Given the description of an element on the screen output the (x, y) to click on. 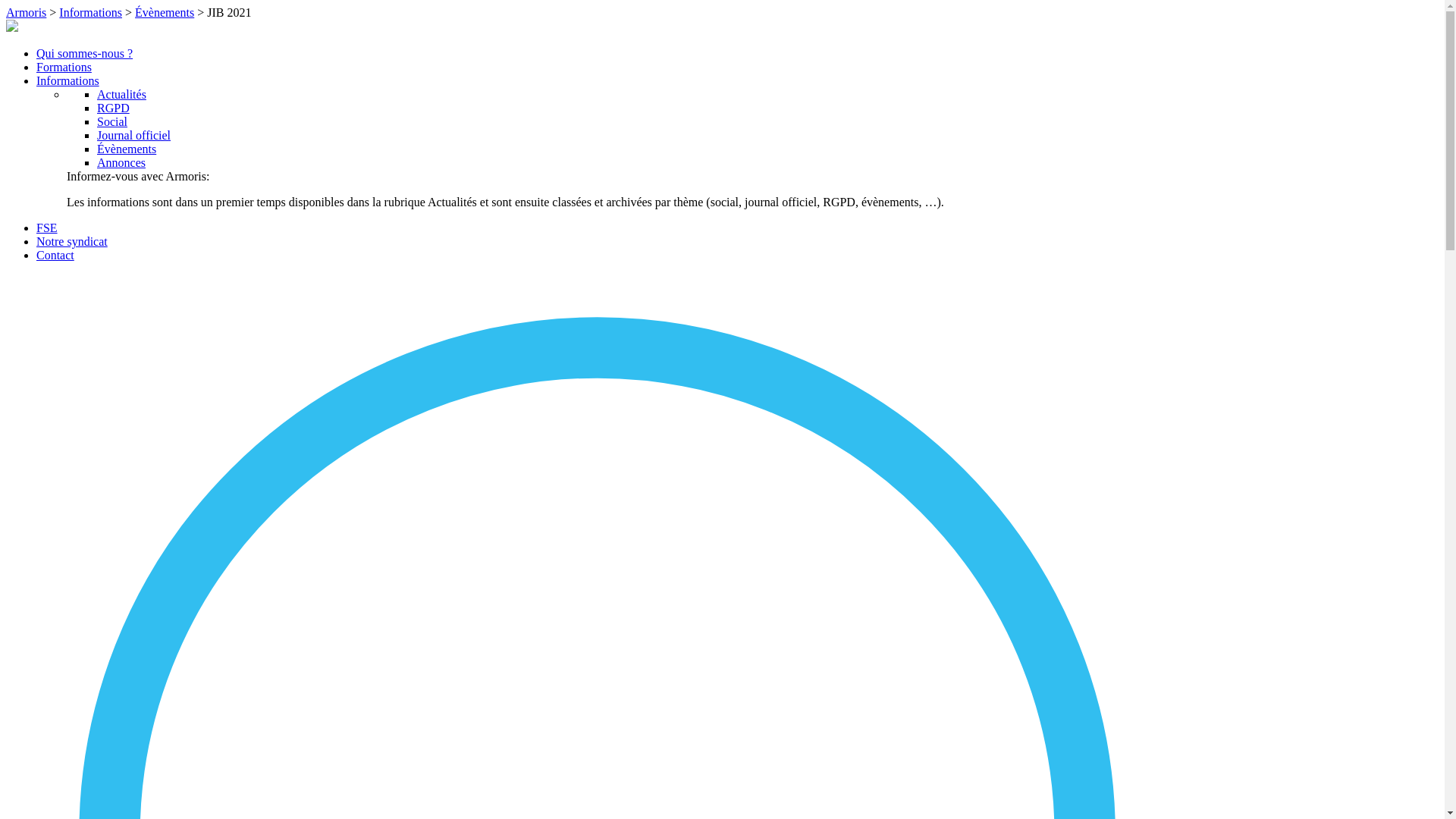
Social Element type: text (112, 121)
Qui sommes-nous ? Element type: text (84, 53)
Journal officiel Element type: text (133, 134)
Informations Element type: text (90, 12)
Armoris Element type: text (26, 12)
Notre syndicat Element type: text (71, 241)
Formations Element type: text (63, 66)
FSE Element type: text (46, 227)
Informations Element type: text (67, 80)
Annonces Element type: text (121, 162)
Contact Element type: text (55, 254)
RGPD Element type: text (113, 107)
